Given the description of an element on the screen output the (x, y) to click on. 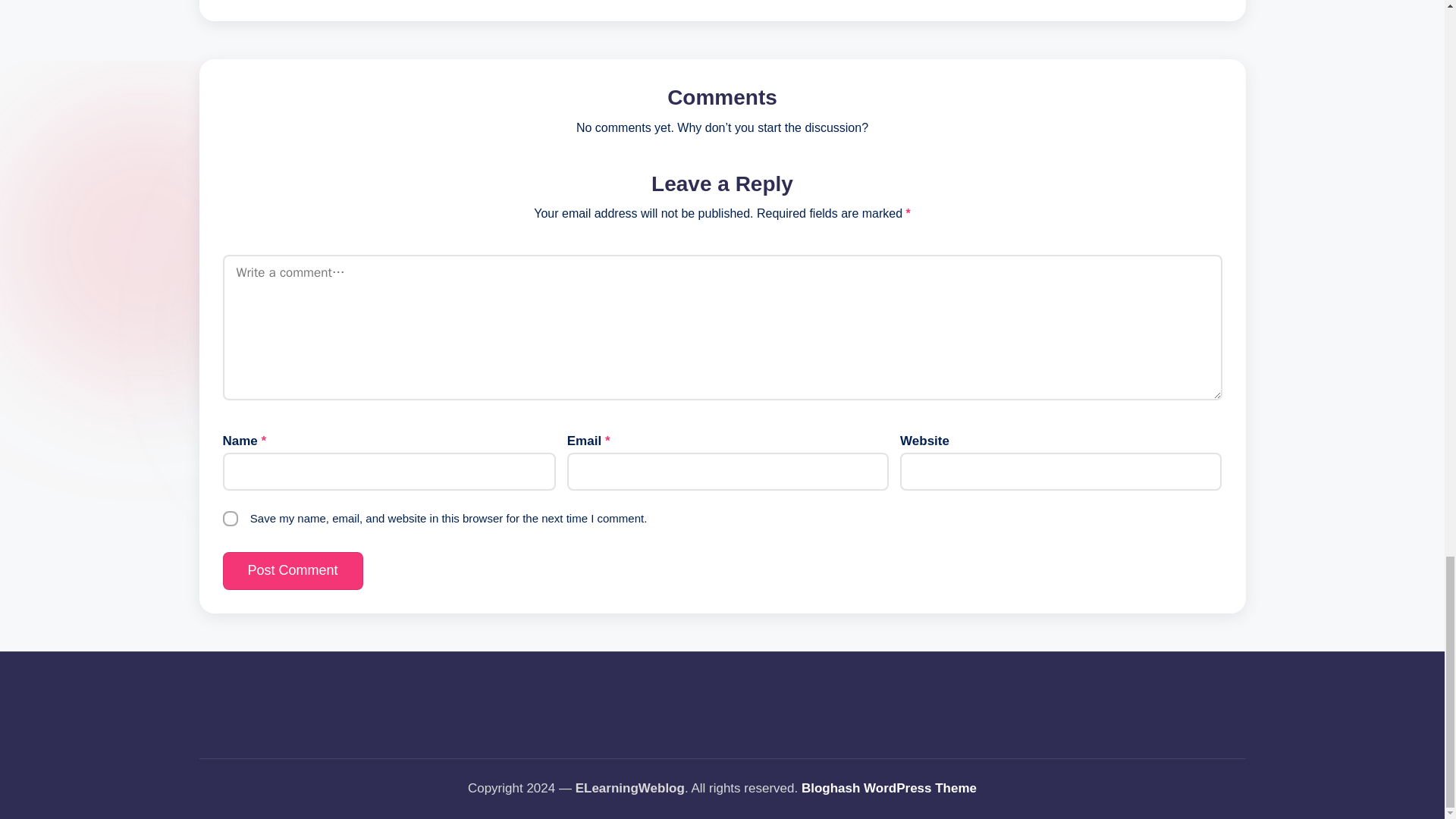
yes (230, 518)
Post Comment (292, 570)
Post Comment (292, 570)
Bloghash WordPress Theme (889, 788)
